Given the description of an element on the screen output the (x, y) to click on. 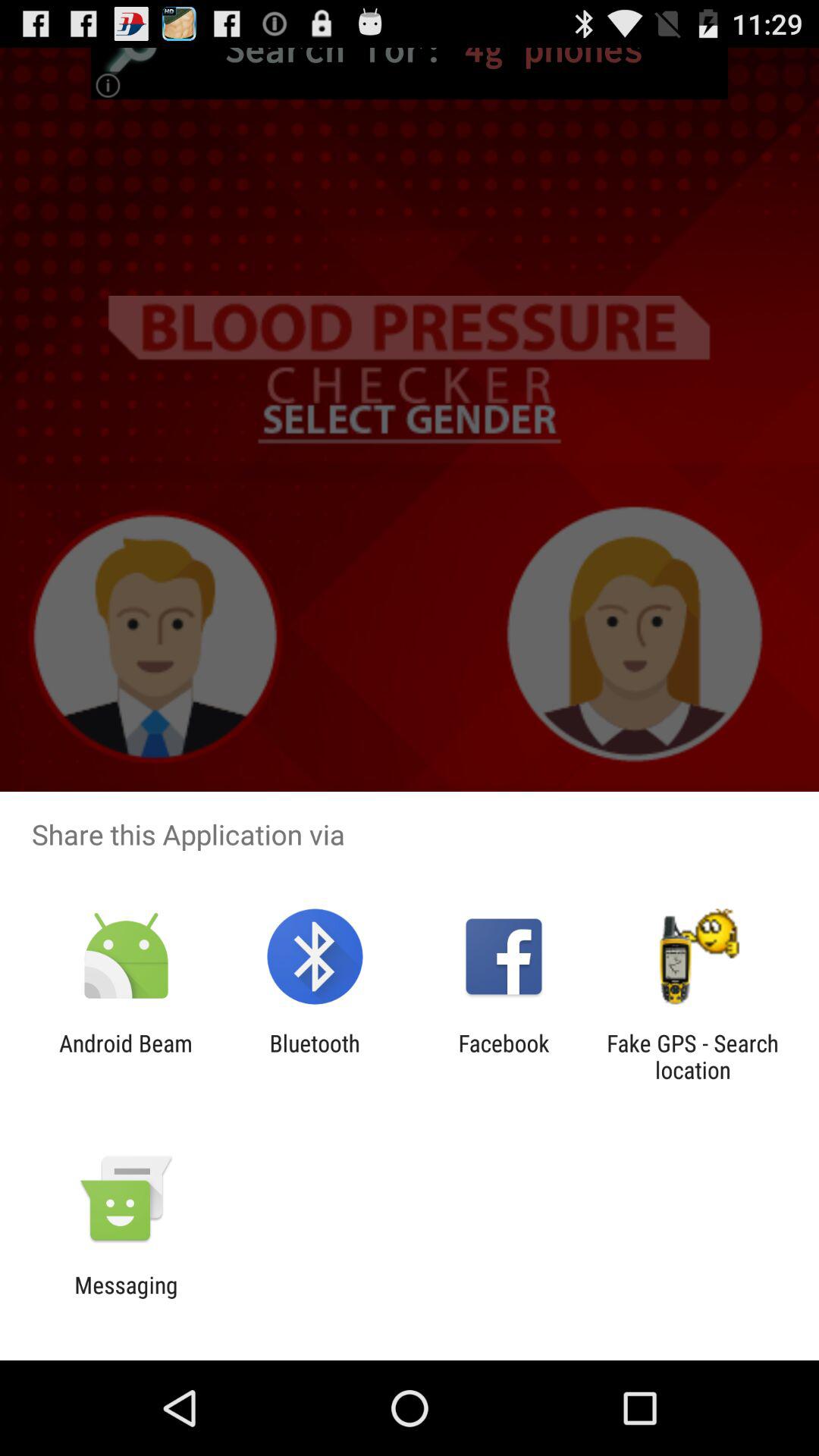
click app next to the facebook (314, 1056)
